Given the description of an element on the screen output the (x, y) to click on. 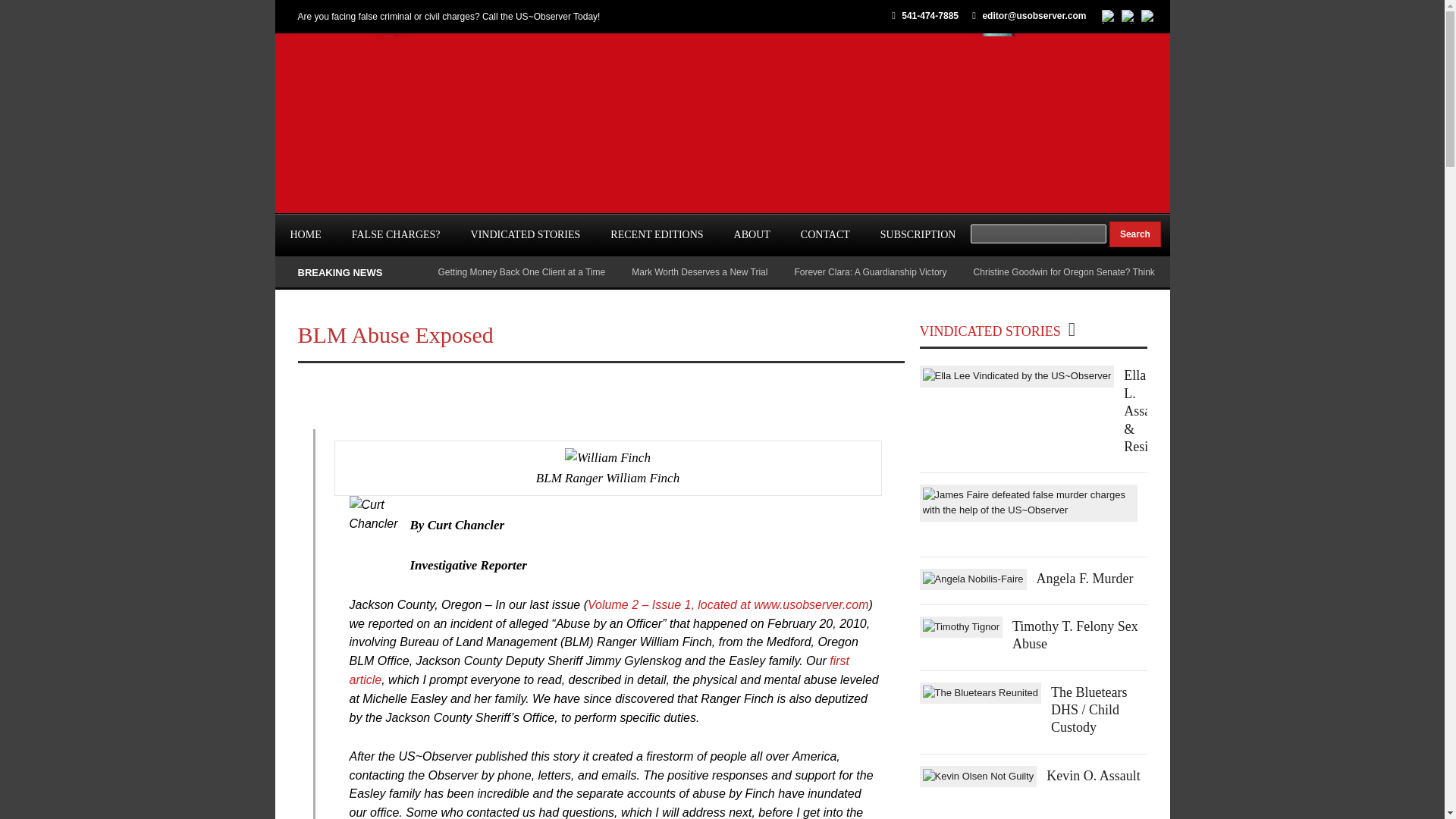
BLM Abuse Exposed (395, 334)
Search (1134, 234)
Mark Worth Deserves a New Trial (699, 271)
Getting Money Back One Client at a Time (521, 271)
HOME (305, 234)
CONTACT (825, 234)
